Given the description of an element on the screen output the (x, y) to click on. 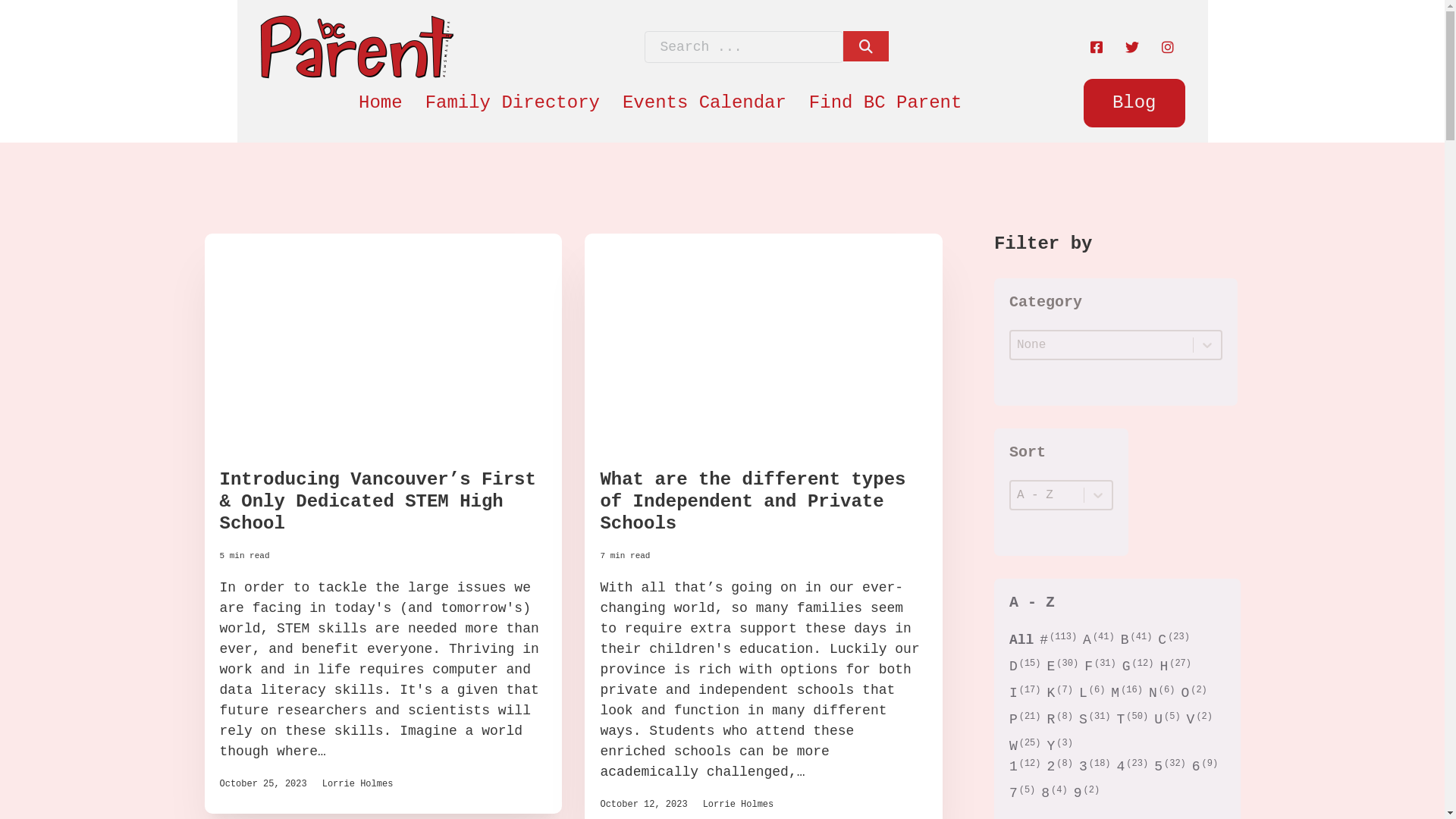
Blog Element type: text (1134, 102)
Home Element type: text (380, 102)
Family Directory Element type: text (512, 102)
Instagram Element type: hover (1166, 46)
Facebook Element type: hover (1095, 46)
Events Calendar Element type: text (704, 102)
Twitter Element type: hover (1131, 46)
Find BC Parent Element type: text (885, 102)
